Given the description of an element on the screen output the (x, y) to click on. 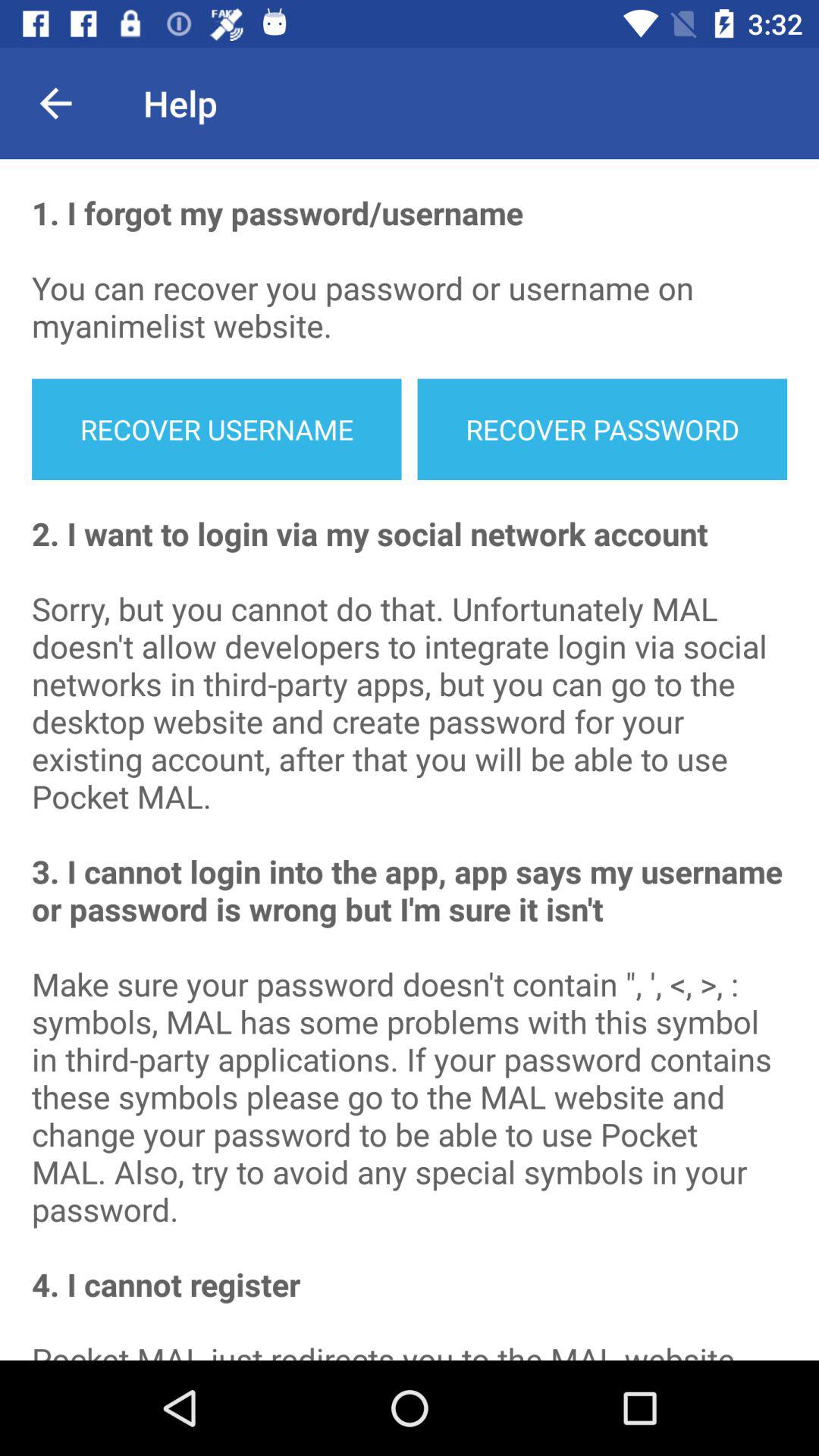
tap item above the 1 i forgot item (55, 103)
